Given the description of an element on the screen output the (x, y) to click on. 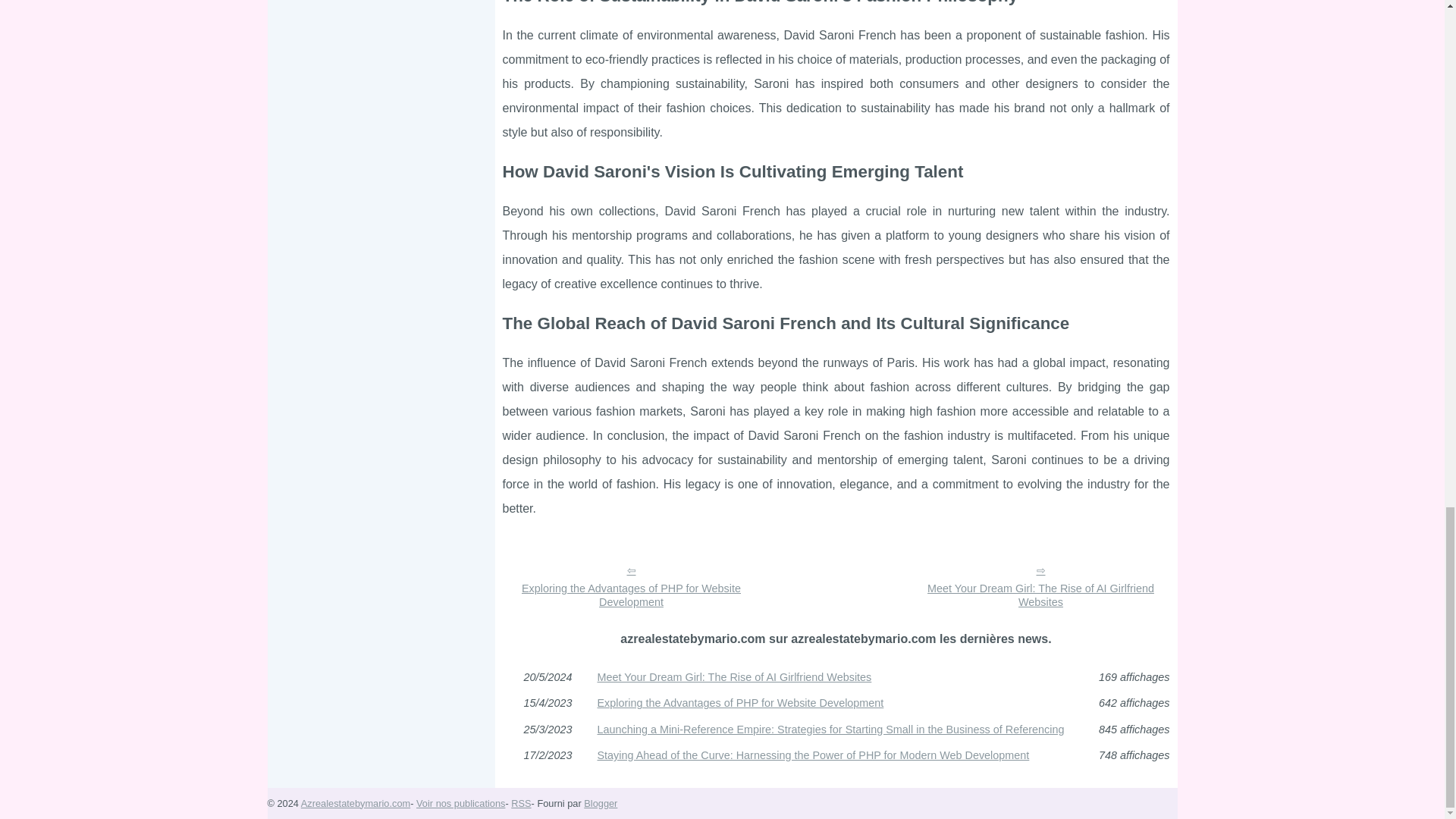
Meet Your Dream Girl: The Rise of AI Girlfriend Websites (1040, 586)
Exploring the Advantages of PHP for Website Development (631, 586)
Exploring the Advantages of PHP for Website Development (631, 586)
Exploring the Advantages of PHP for Website Development (835, 702)
Meet Your Dream Girl: The Rise of AI Girlfriend Websites (835, 676)
RSS (521, 803)
Blogger (600, 803)
